Given the description of an element on the screen output the (x, y) to click on. 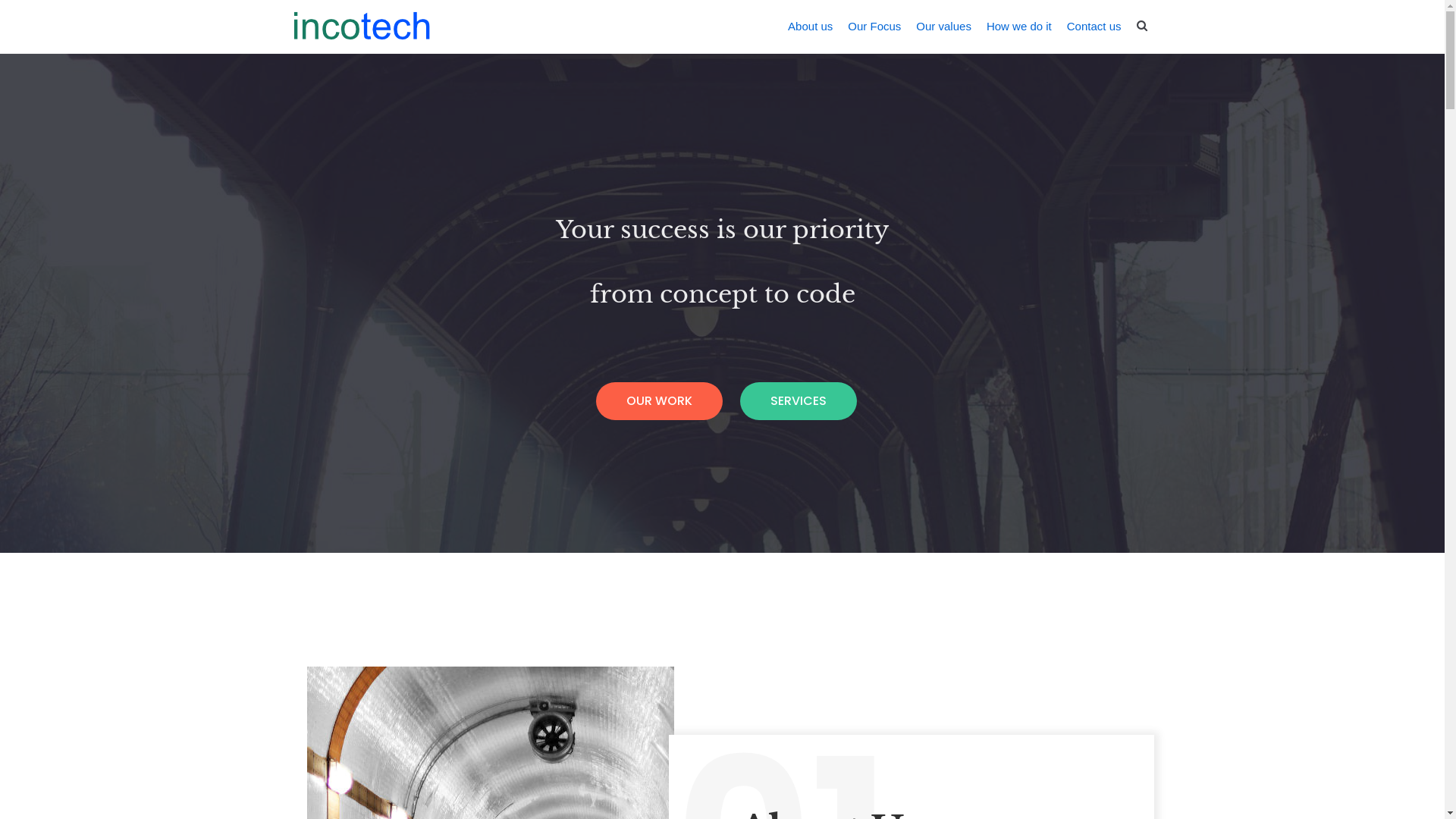
Search Element type: text (1122, 67)
Incotech Element type: hover (360, 26)
Our Focus Element type: text (873, 26)
Skip to content Element type: text (15, 7)
SERVICES Element type: text (798, 401)
Contact us Element type: text (1093, 26)
About us Element type: text (809, 26)
OUR WORK Element type: text (659, 401)
Our values Element type: text (943, 26)
How we do it Element type: text (1018, 26)
